Given the description of an element on the screen output the (x, y) to click on. 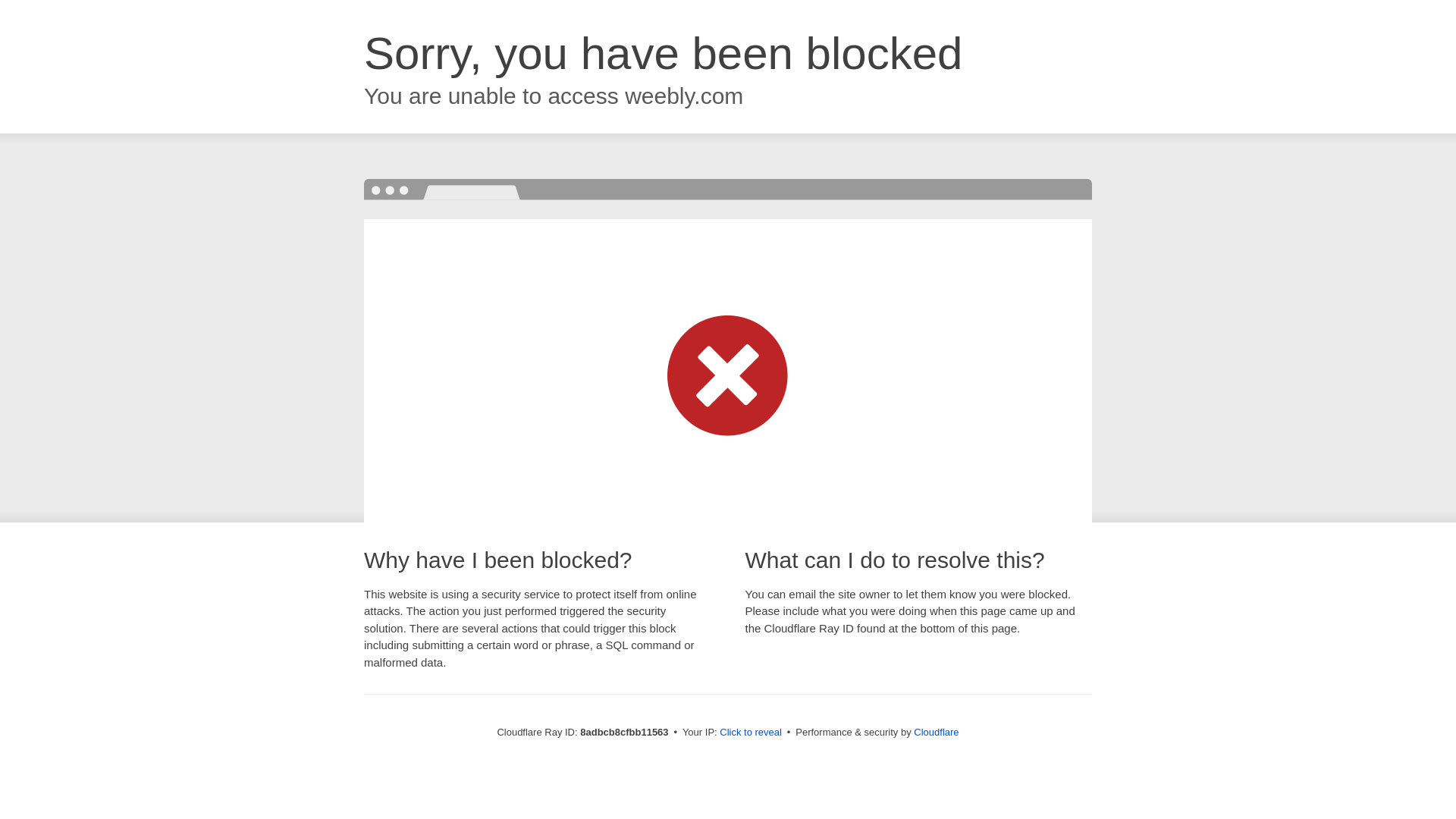
Click to reveal (750, 732)
Cloudflare (936, 731)
